Given the description of an element on the screen output the (x, y) to click on. 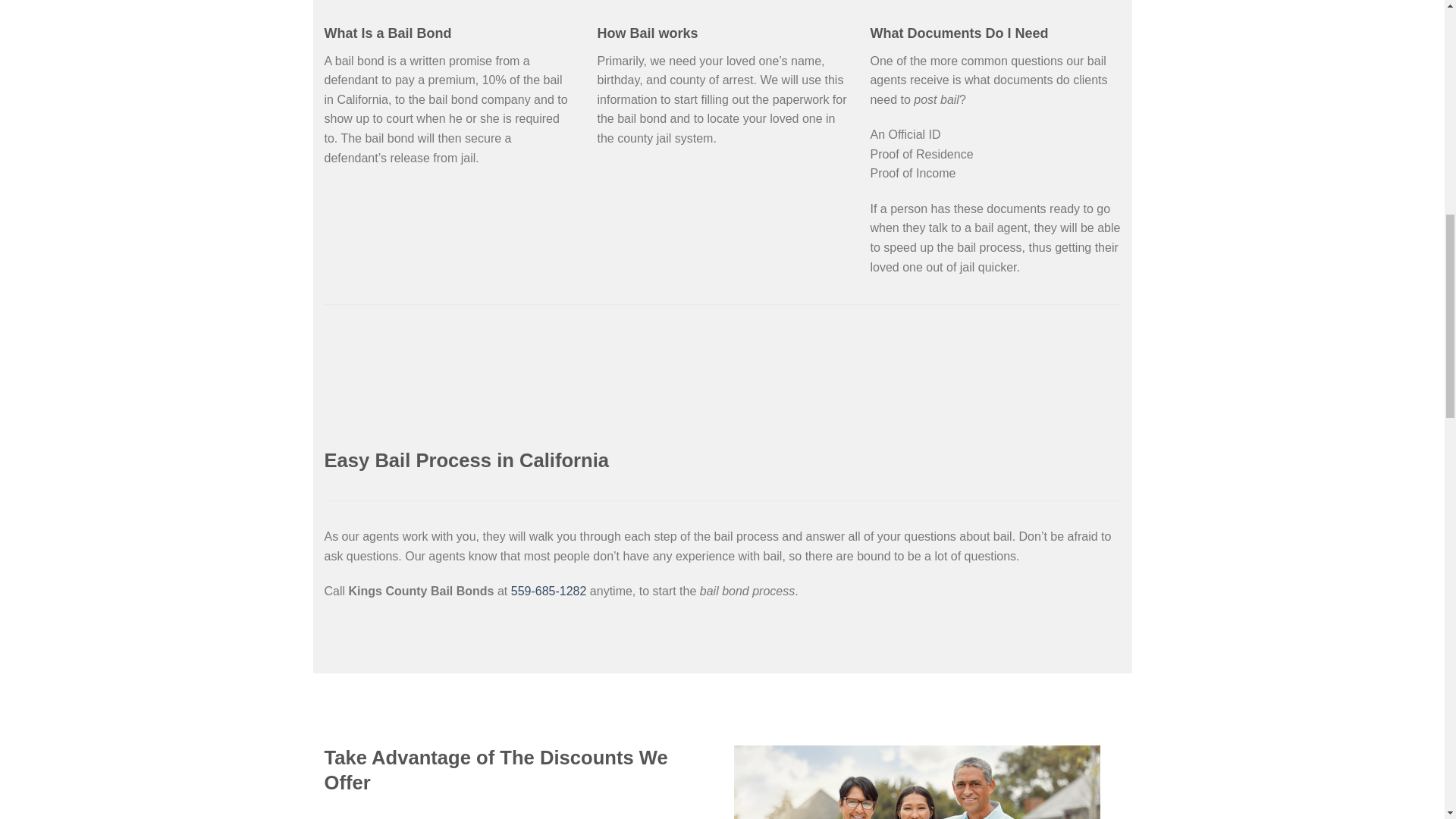
559-685-1282 (548, 590)
